Given the description of an element on the screen output the (x, y) to click on. 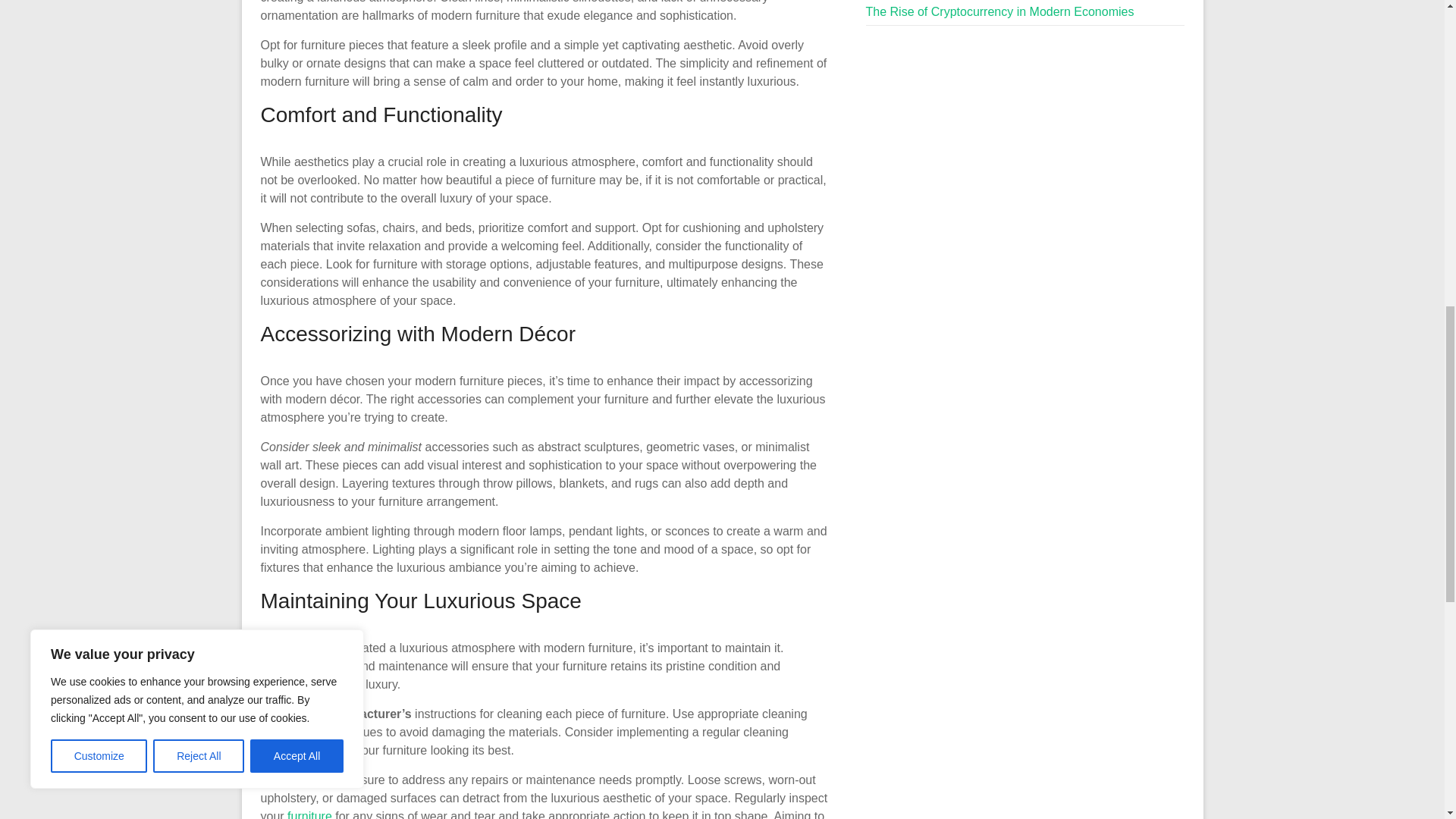
furniture (308, 814)
